Given the description of an element on the screen output the (x, y) to click on. 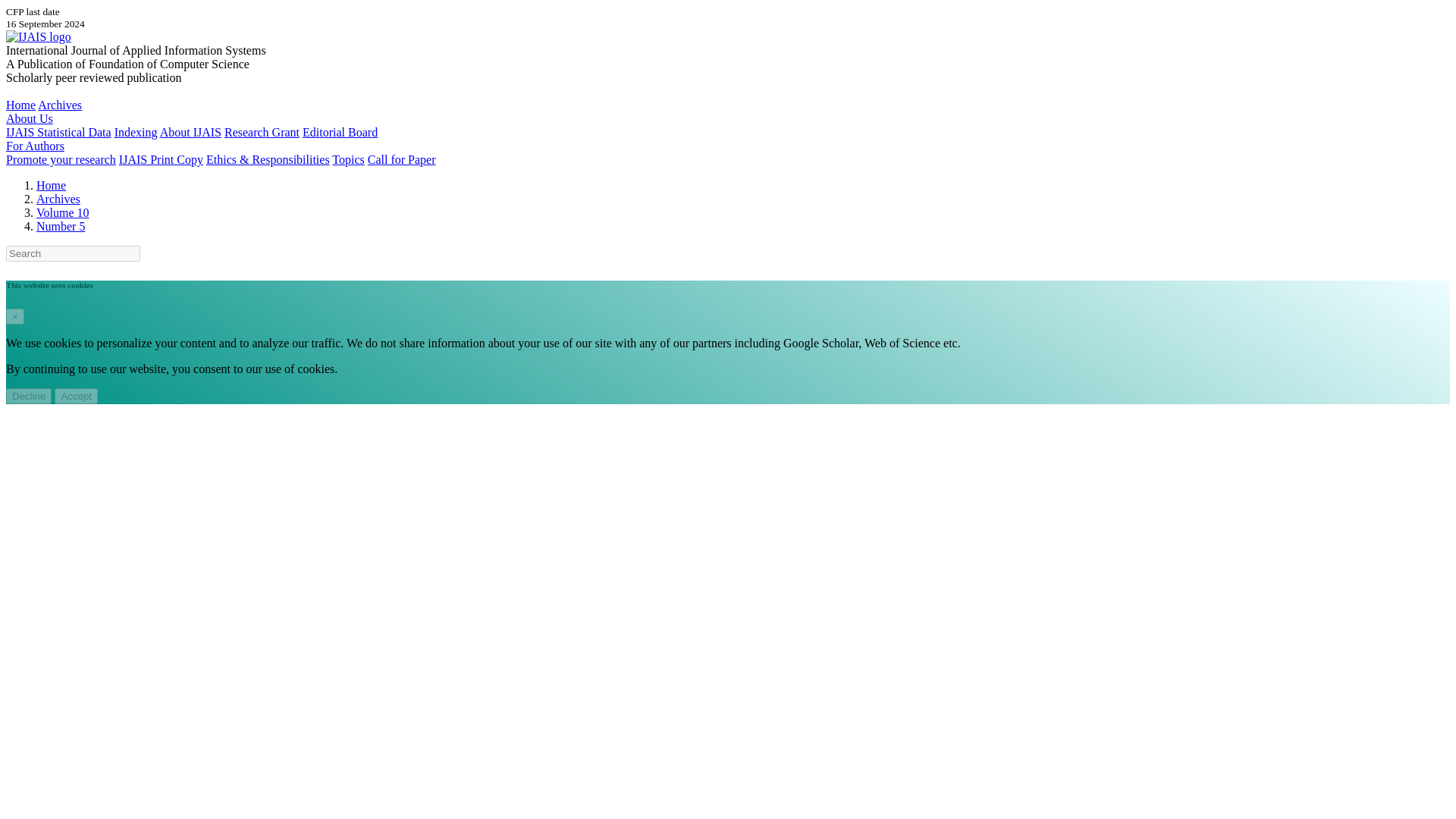
Number 5 (60, 226)
IJAIS Statistical Data (58, 132)
Call for Paper (401, 159)
IJAIS Print Copy (161, 159)
For Authors (34, 145)
Archives (59, 104)
Home (19, 104)
Topics (347, 159)
Editorial Board (339, 132)
Home (50, 185)
